Given the description of an element on the screen output the (x, y) to click on. 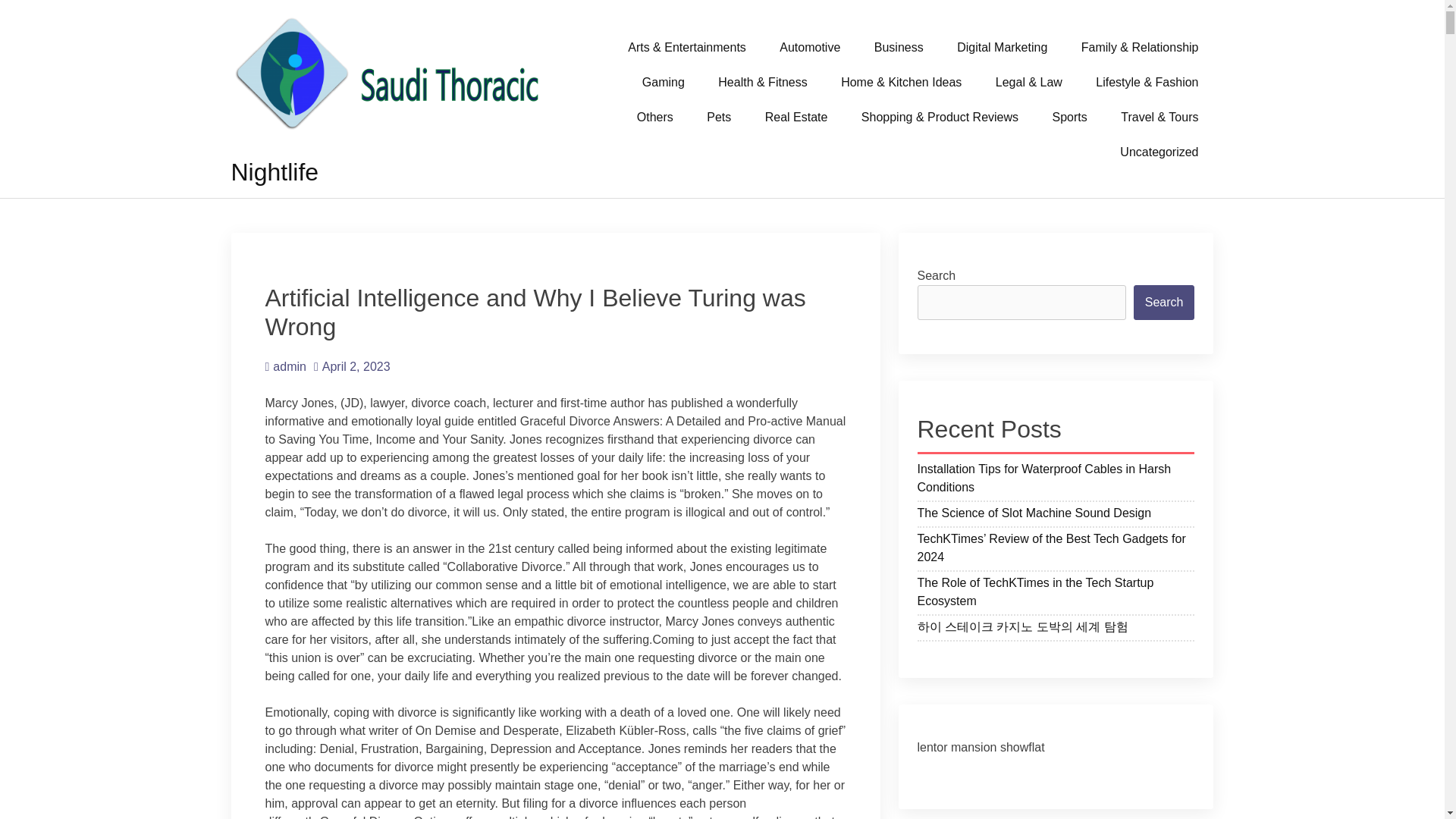
The Role of TechKTimes in the Tech Startup Ecosystem (1056, 594)
Business (899, 46)
Pets (718, 116)
Automotive (810, 46)
Gaming (663, 81)
Others (654, 116)
The Science of Slot Machine Sound Design (1056, 515)
Real Estate (796, 116)
Search (1164, 302)
admin (284, 366)
